Given the description of an element on the screen output the (x, y) to click on. 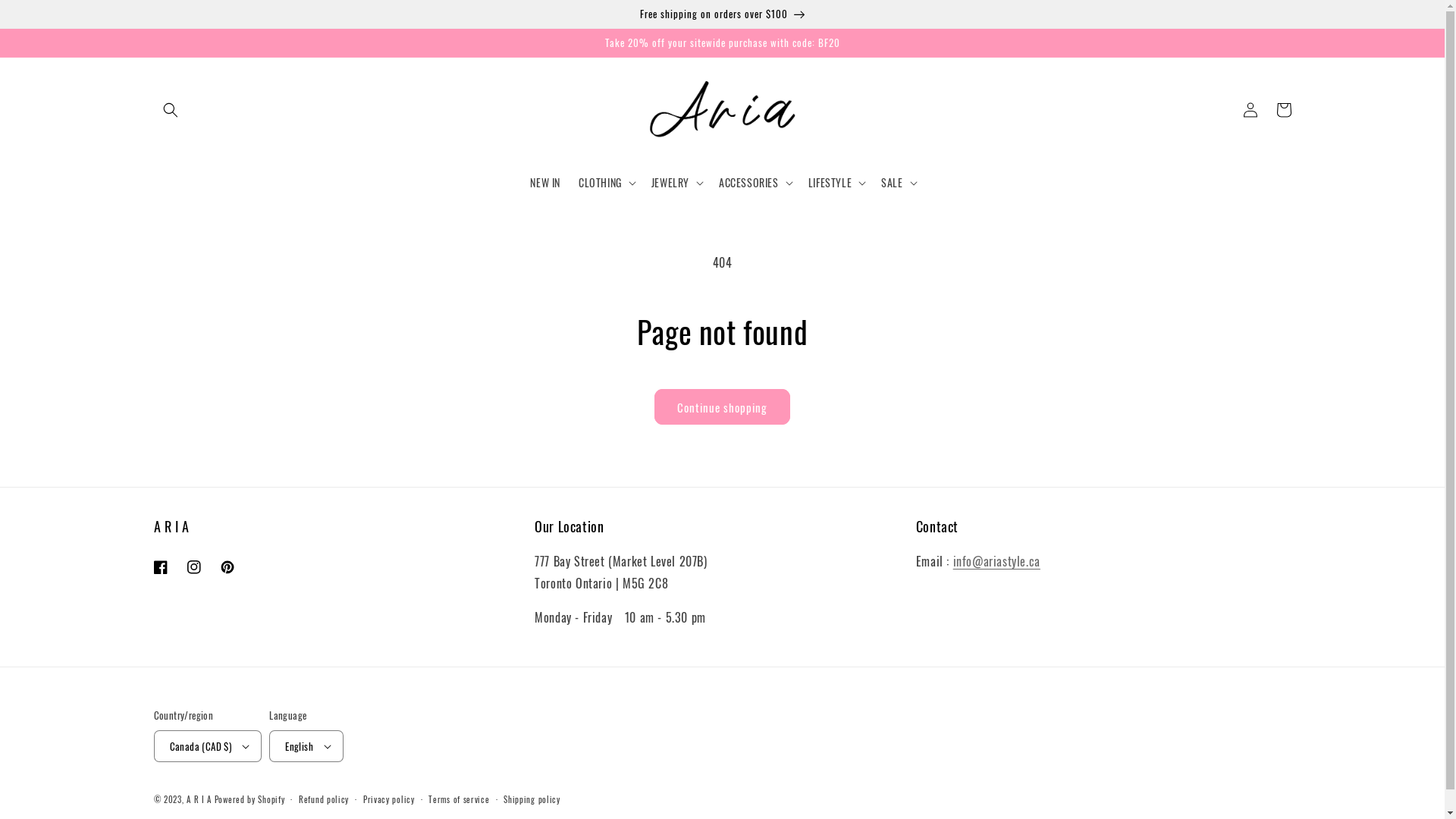
English Element type: text (306, 746)
Log in Element type: text (1249, 109)
info@ariastyle.ca Element type: text (996, 561)
Cart Element type: text (1282, 109)
Refund policy Element type: text (323, 799)
Privacy policy Element type: text (388, 799)
Continue shopping Element type: text (722, 406)
Canada (CAD $) Element type: text (207, 746)
Free shipping on orders over $100 Element type: text (722, 14)
Pinterest Element type: text (227, 566)
Terms of service Element type: text (458, 799)
Shipping policy Element type: text (531, 799)
Facebook Element type: text (160, 566)
NEW IN Element type: text (544, 182)
Instagram Element type: text (193, 566)
A R I A Element type: text (198, 799)
Powered by Shopify Element type: text (249, 799)
